Given the description of an element on the screen output the (x, y) to click on. 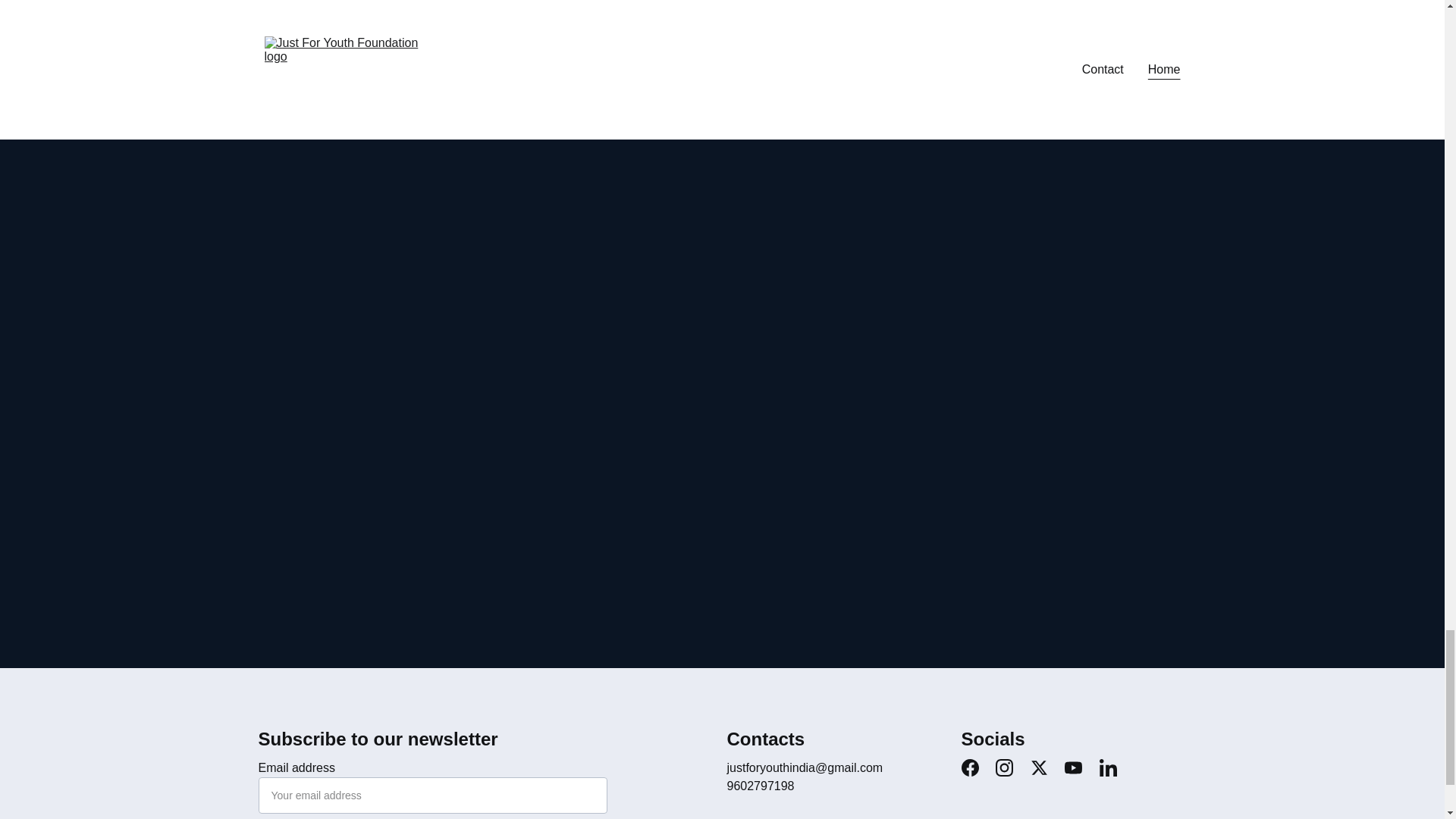
Go to Facebook page (969, 767)
